Given the description of an element on the screen output the (x, y) to click on. 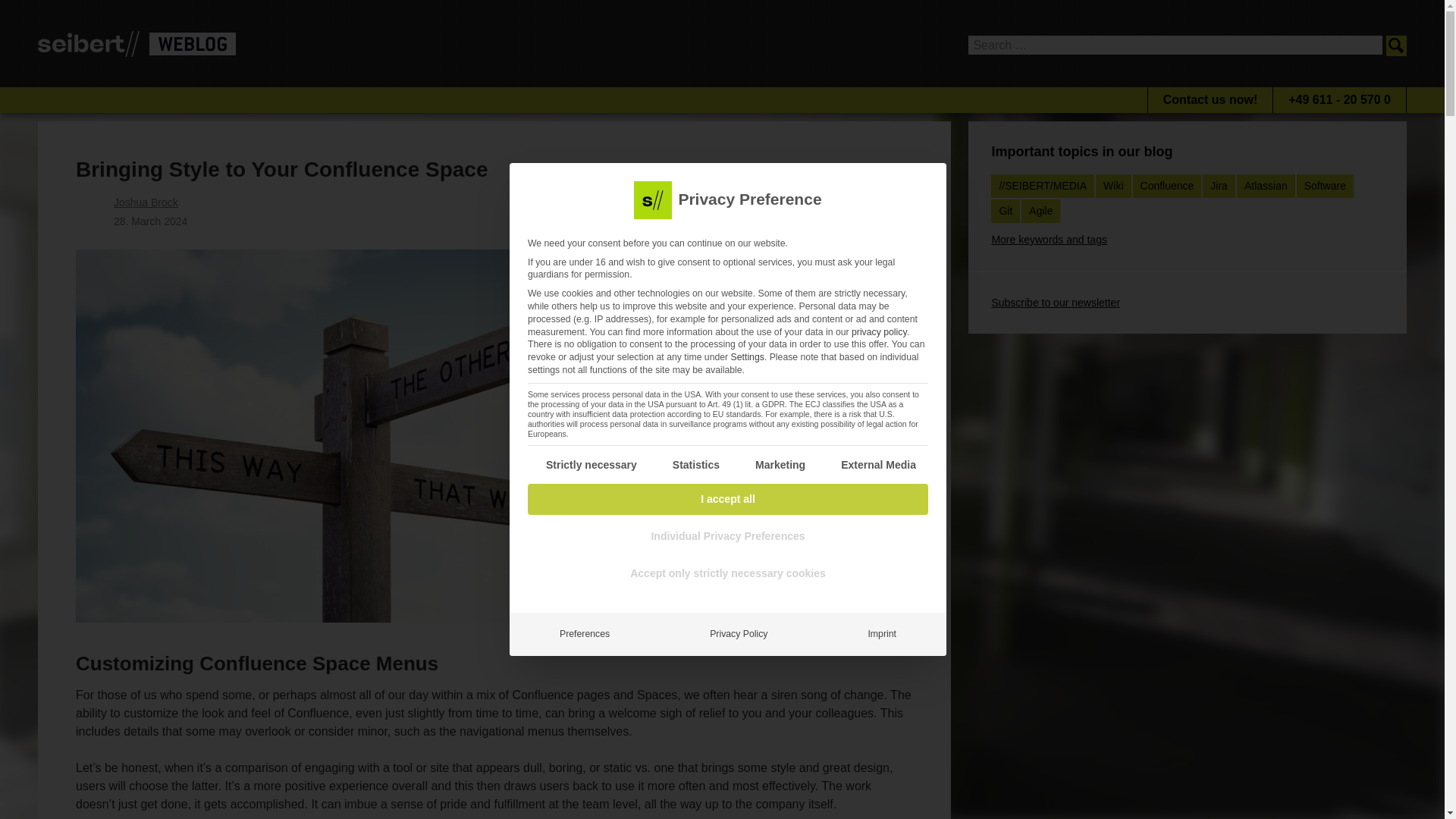
Contact us now! (1210, 99)
28. March 2024 (150, 221)
Search (1396, 46)
Joshua Brock (145, 202)
Search (1396, 46)
Search (1396, 46)
